Given the description of an element on the screen output the (x, y) to click on. 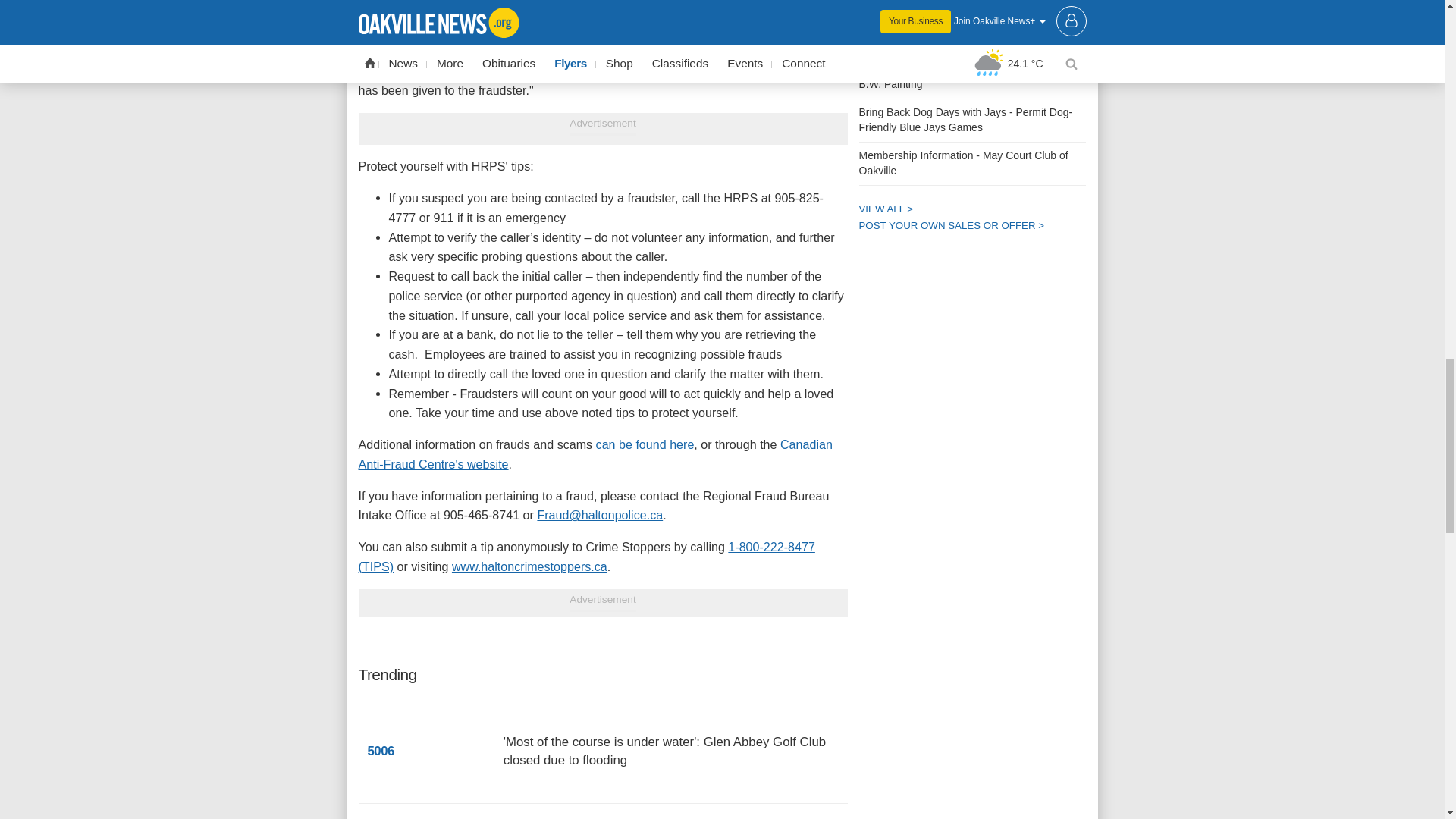
Contact Crime Stoppers (529, 566)
